Given the description of an element on the screen output the (x, y) to click on. 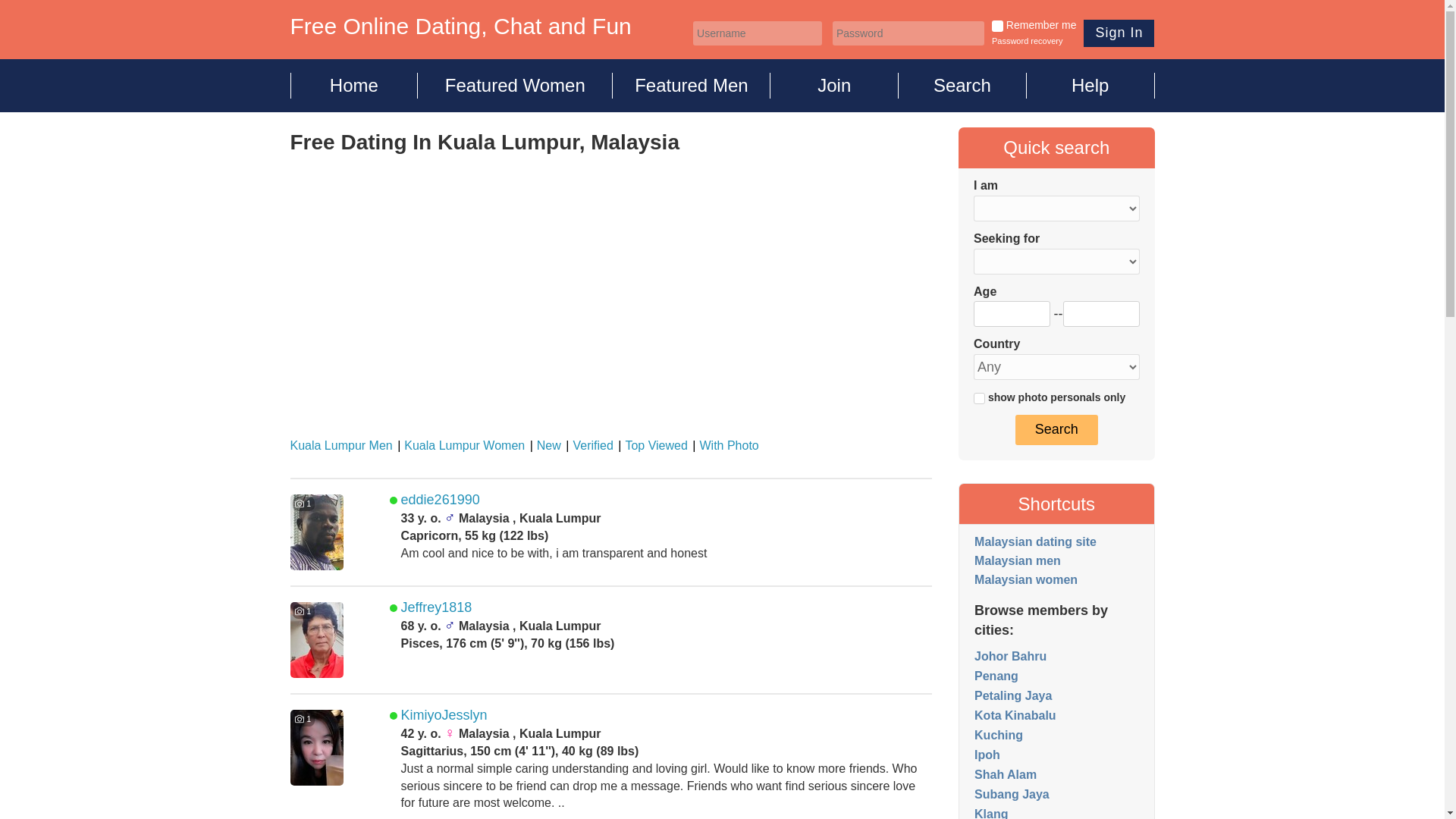
Sign In (1118, 32)
Search (962, 85)
Join (834, 85)
Help (1090, 85)
With Photo (724, 445)
KimiyoJesslyn (444, 714)
Jeffrey1818 (436, 607)
1 (979, 398)
Kuala Lumpur Men (340, 445)
Featured Women (514, 85)
